Given the description of an element on the screen output the (x, y) to click on. 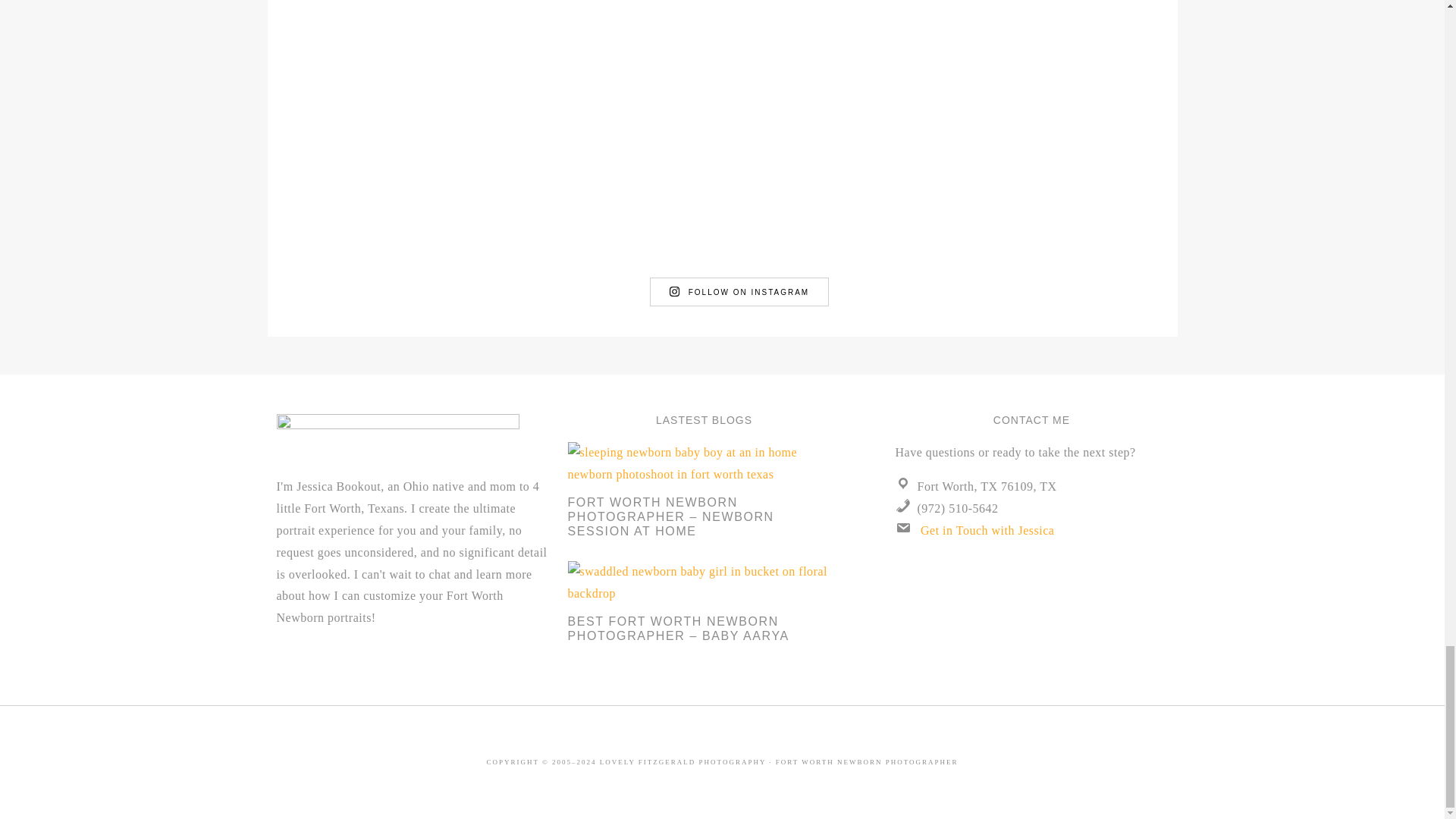
FOLLOW ON INSTAGRAM (738, 291)
Get in Touch with Jessica (987, 530)
